Given the description of an element on the screen output the (x, y) to click on. 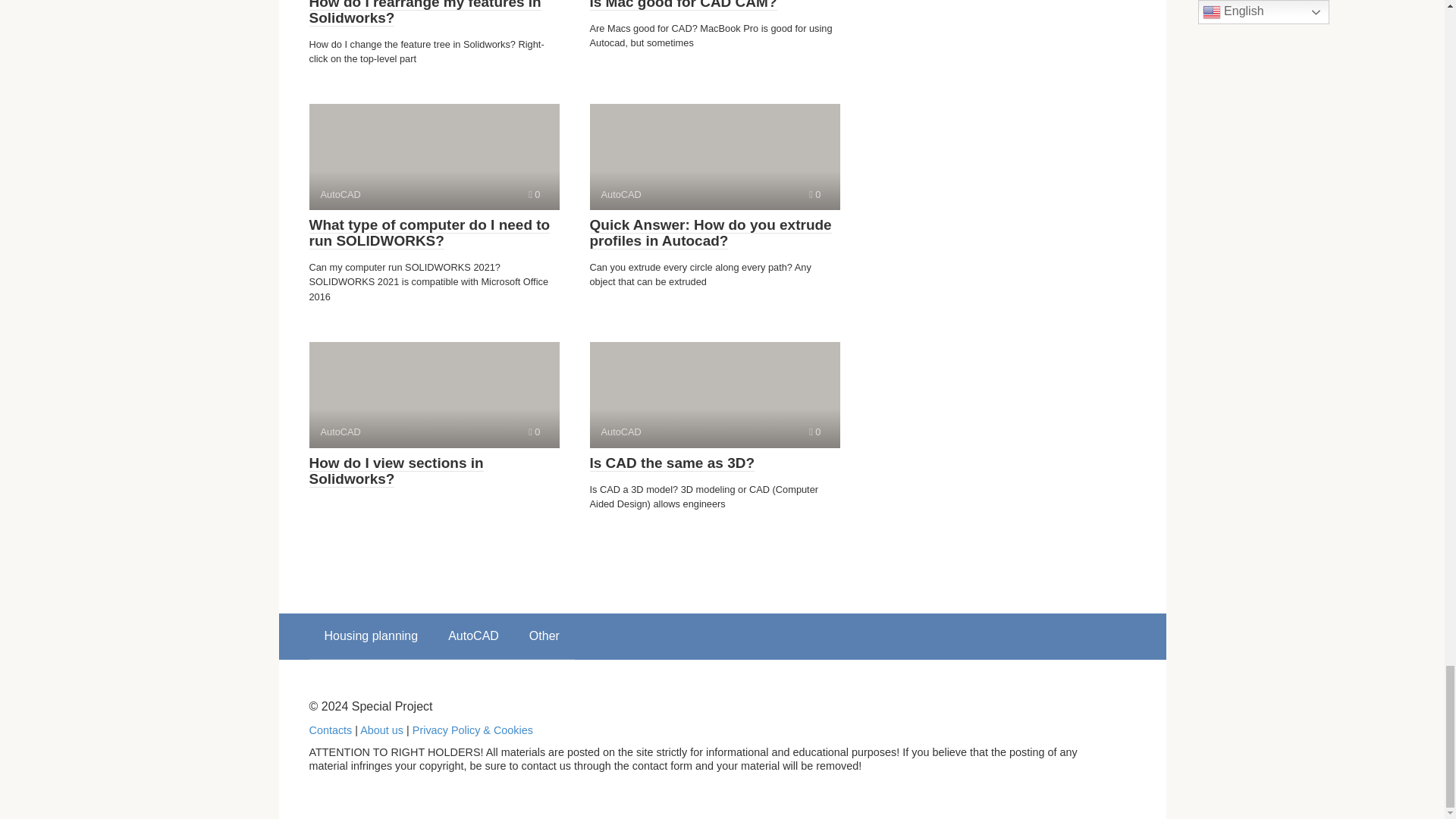
What type of computer do I need to run SOLIDWORKS? (429, 233)
Is Mac good for CAD CAM? (683, 5)
Comments (815, 194)
Quick Answer: How do you extrude profiles in Autocad? (433, 394)
Comments (710, 233)
How do I rearrange my features in Solidworks? (433, 156)
How do I view sections in Solidworks? (815, 431)
